Given the description of an element on the screen output the (x, y) to click on. 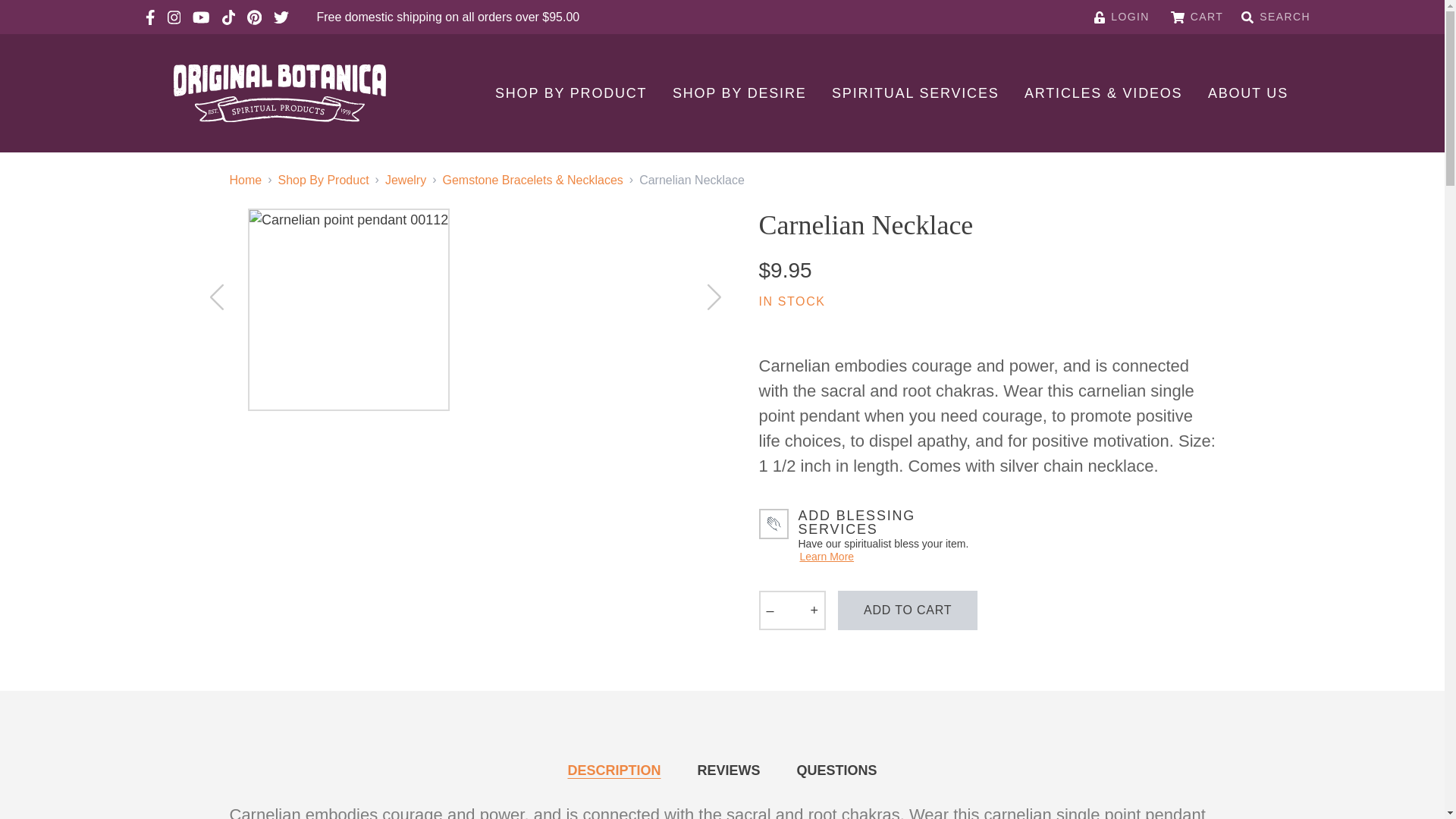
SHOP BY PRODUCT (570, 93)
Original Botanica Spirtual Products (279, 93)
Original Products Botanica instagram Link (173, 16)
SEARCH (1275, 17)
Original Products Botanica youtube Link (200, 16)
Original Products Botanica twitter Link (280, 16)
Original Products Botanica pinterest Link (254, 16)
Original Products Botanica tiktok Link (227, 16)
LOGIN (1122, 17)
CART (1196, 17)
